Given the description of an element on the screen output the (x, y) to click on. 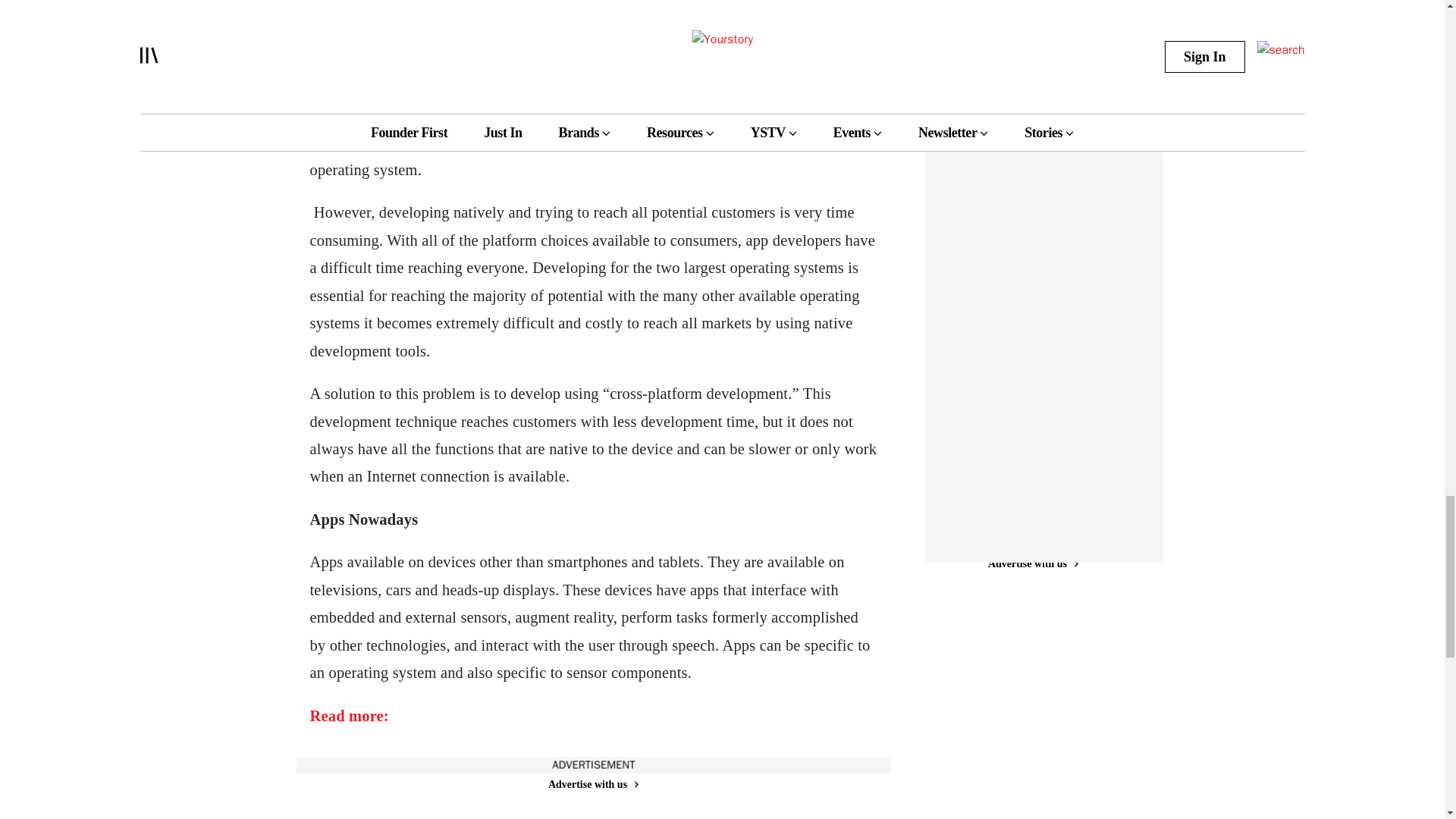
Advertise with us (592, 784)
Read more: (348, 715)
